Given the description of an element on the screen output the (x, y) to click on. 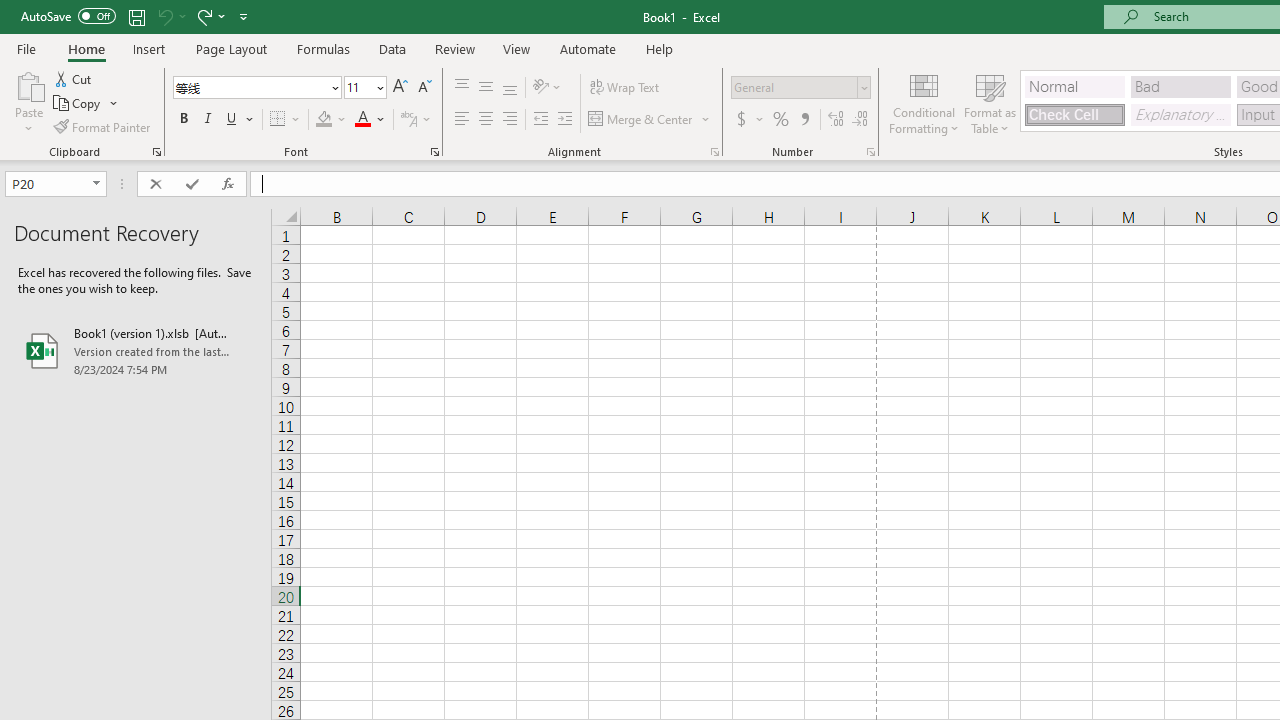
Align Right (509, 119)
Format as Table (990, 102)
Accounting Number Format (741, 119)
Fill Color (331, 119)
Office Clipboard... (156, 151)
Copy (78, 103)
Font Color (370, 119)
Align Left (461, 119)
